Given the description of an element on the screen output the (x, y) to click on. 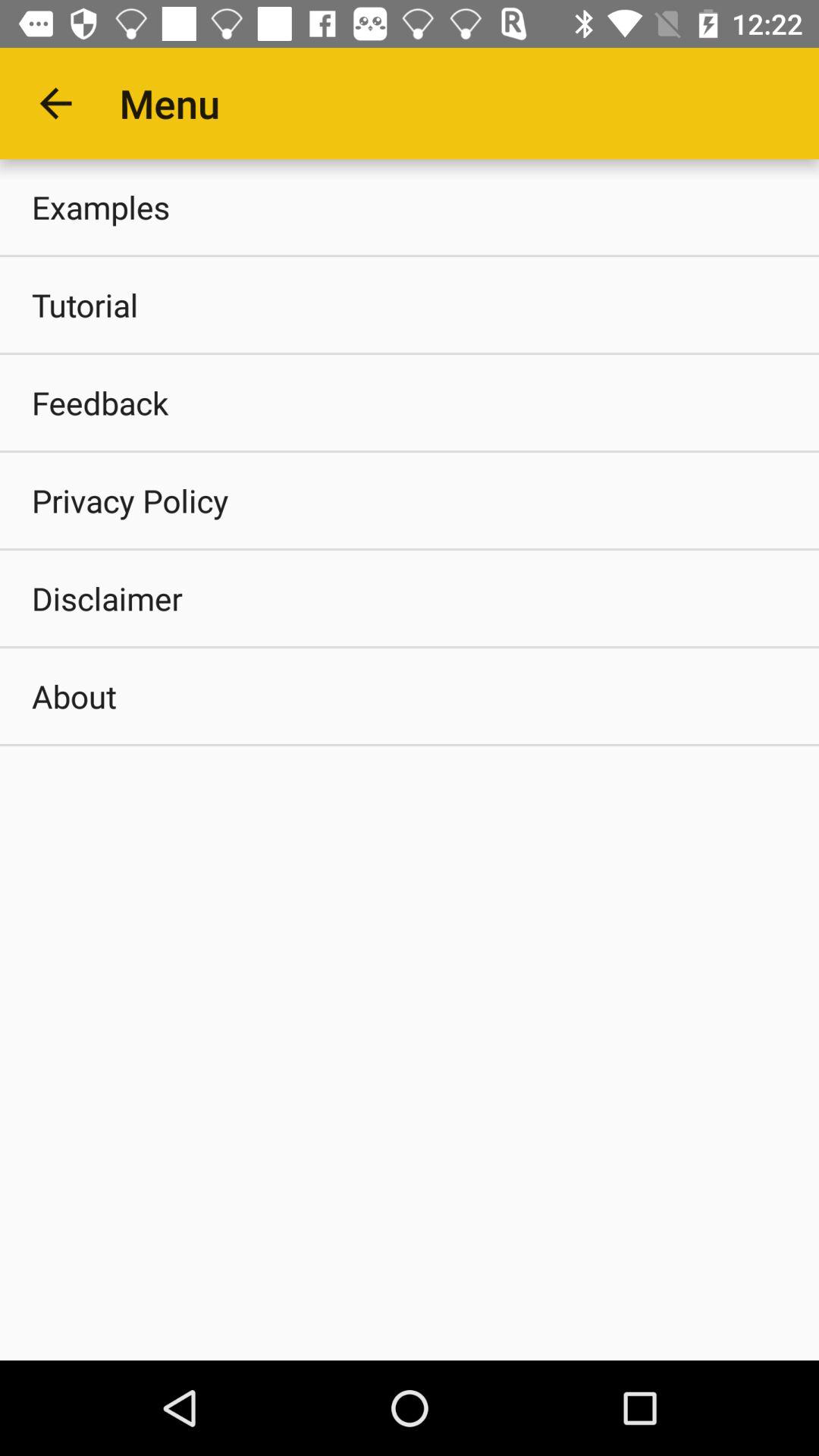
press the item below the privacy policy item (409, 598)
